Given the description of an element on the screen output the (x, y) to click on. 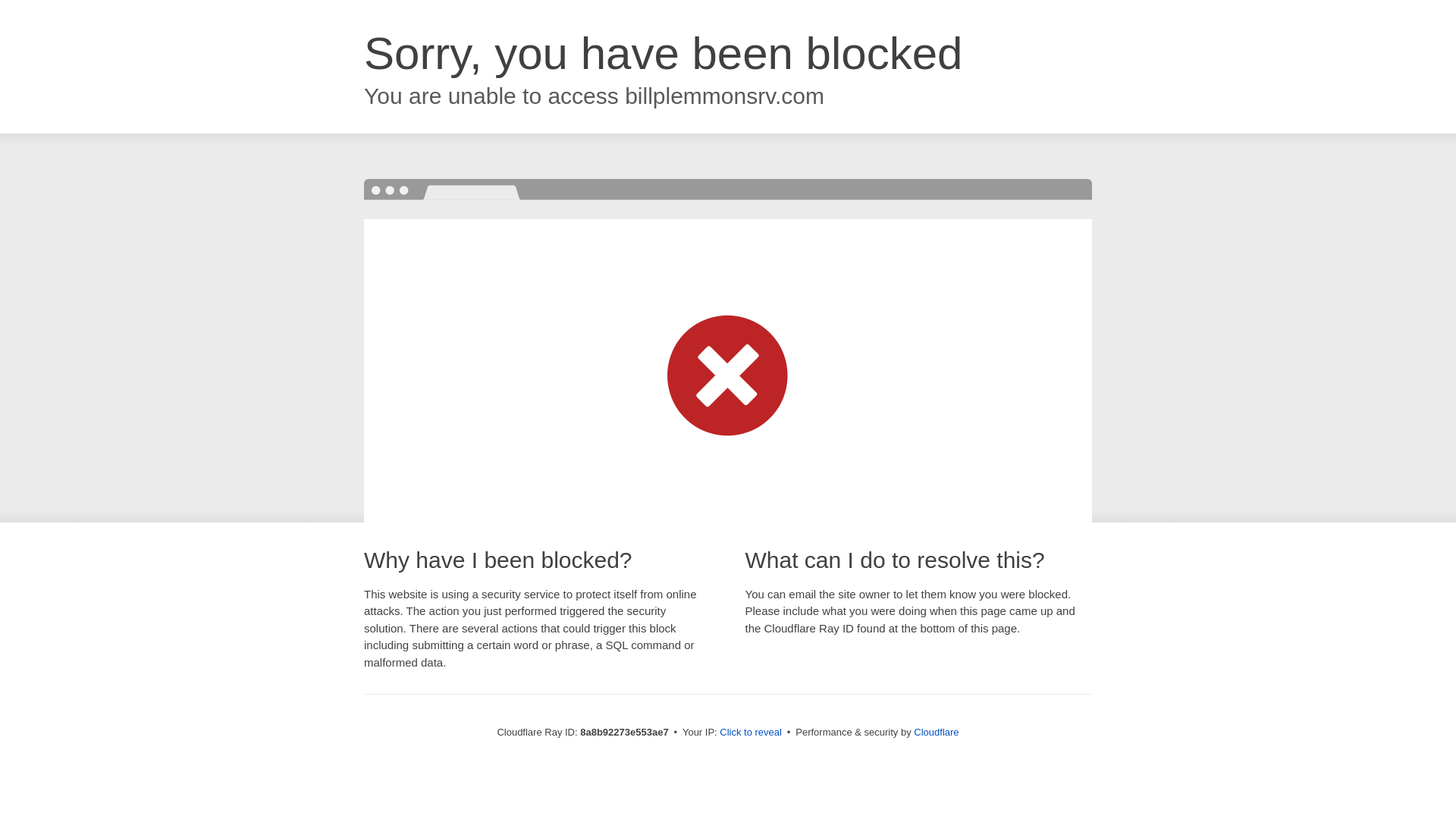
Cloudflare (936, 731)
Click to reveal (750, 732)
